Given the description of an element on the screen output the (x, y) to click on. 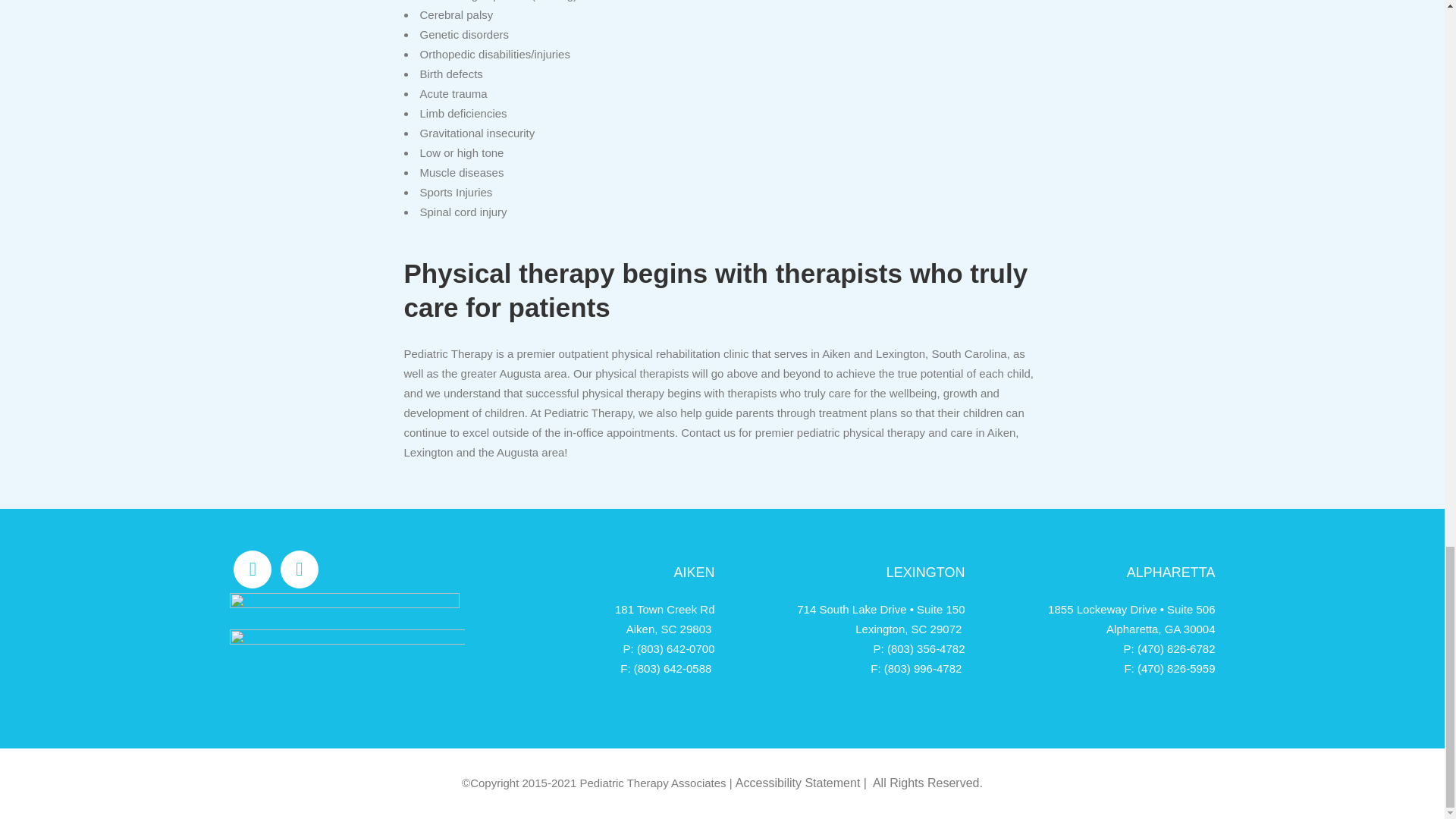
Accessibility Statement (797, 782)
